Given the description of an element on the screen output the (x, y) to click on. 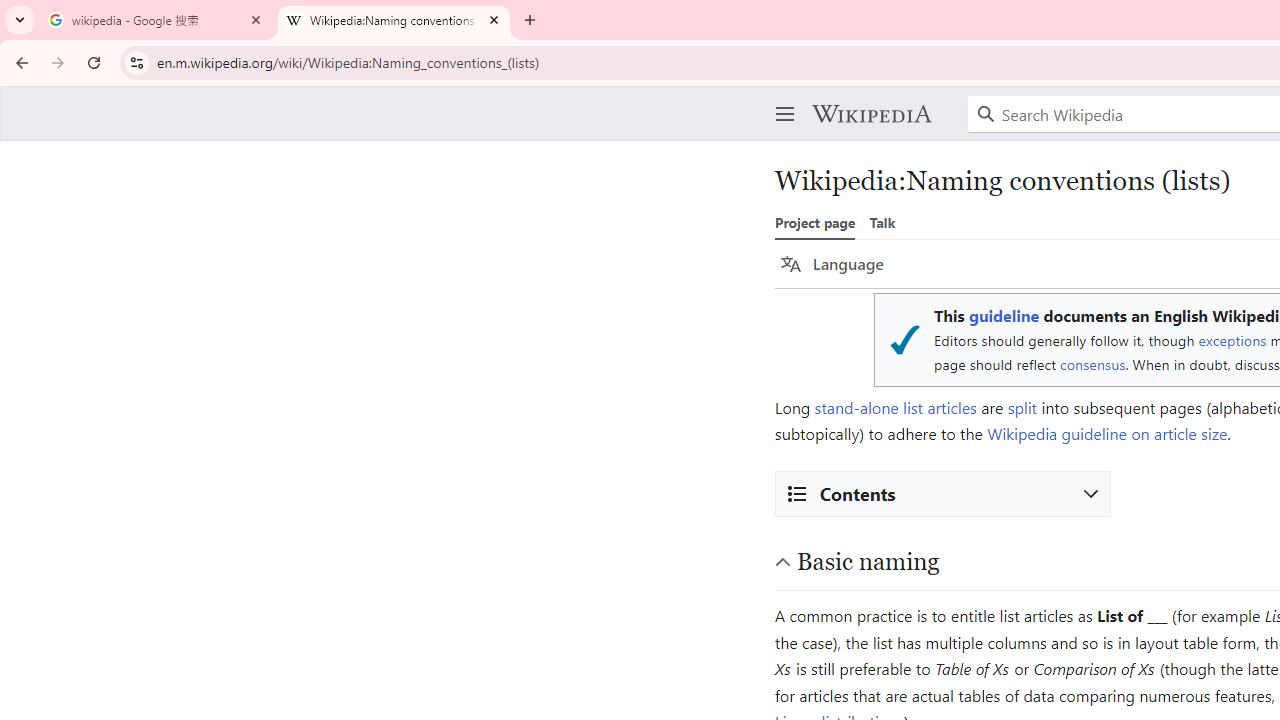
split (1022, 407)
Wikipedia guideline on article size (1106, 433)
Wikipedia (871, 114)
consensus (1092, 364)
